Given the description of an element on the screen output the (x, y) to click on. 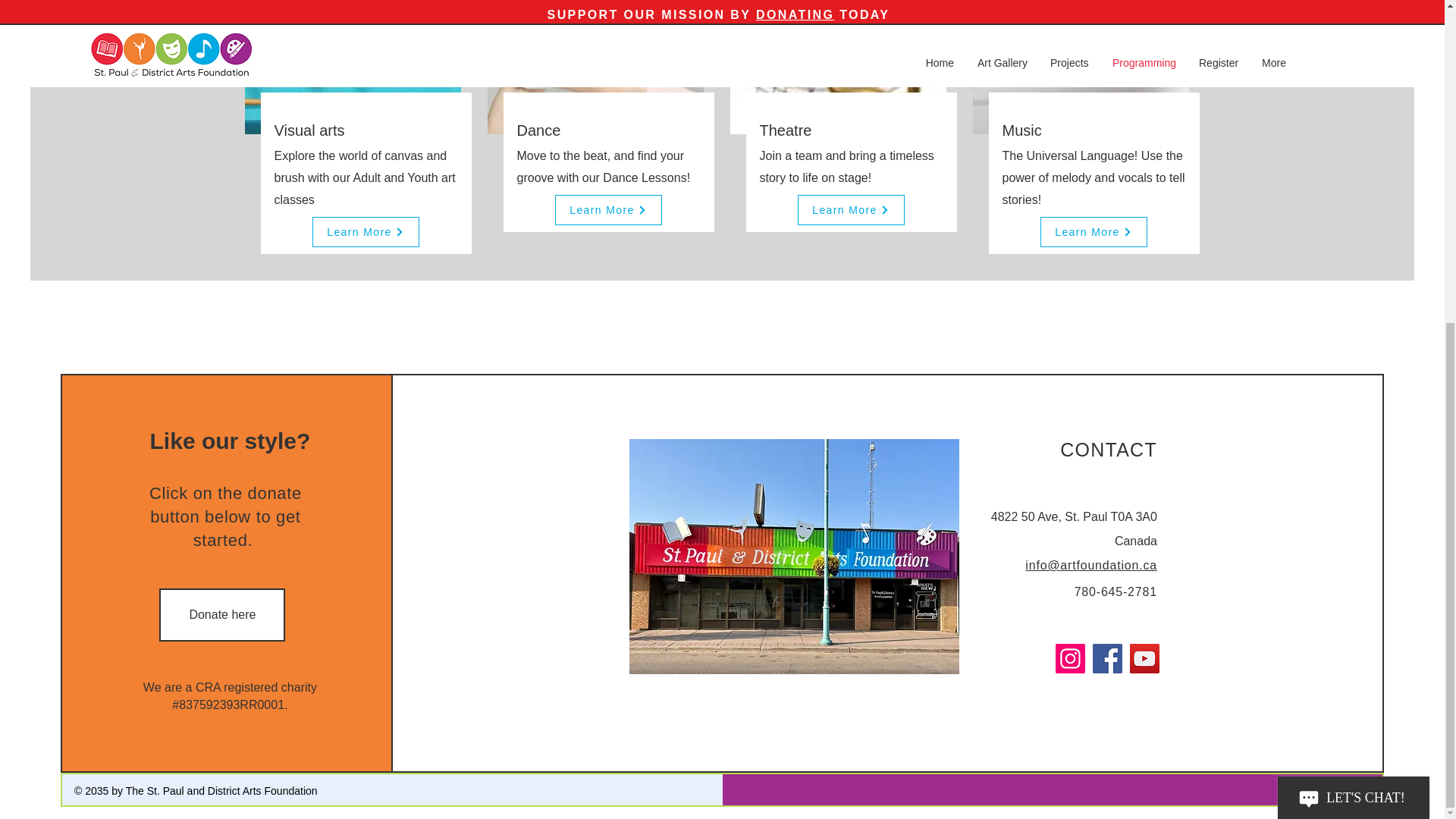
Donate here (221, 614)
Learn More (366, 232)
Learn More (850, 209)
Learn More (608, 209)
Learn More (1094, 232)
